Given the description of an element on the screen output the (x, y) to click on. 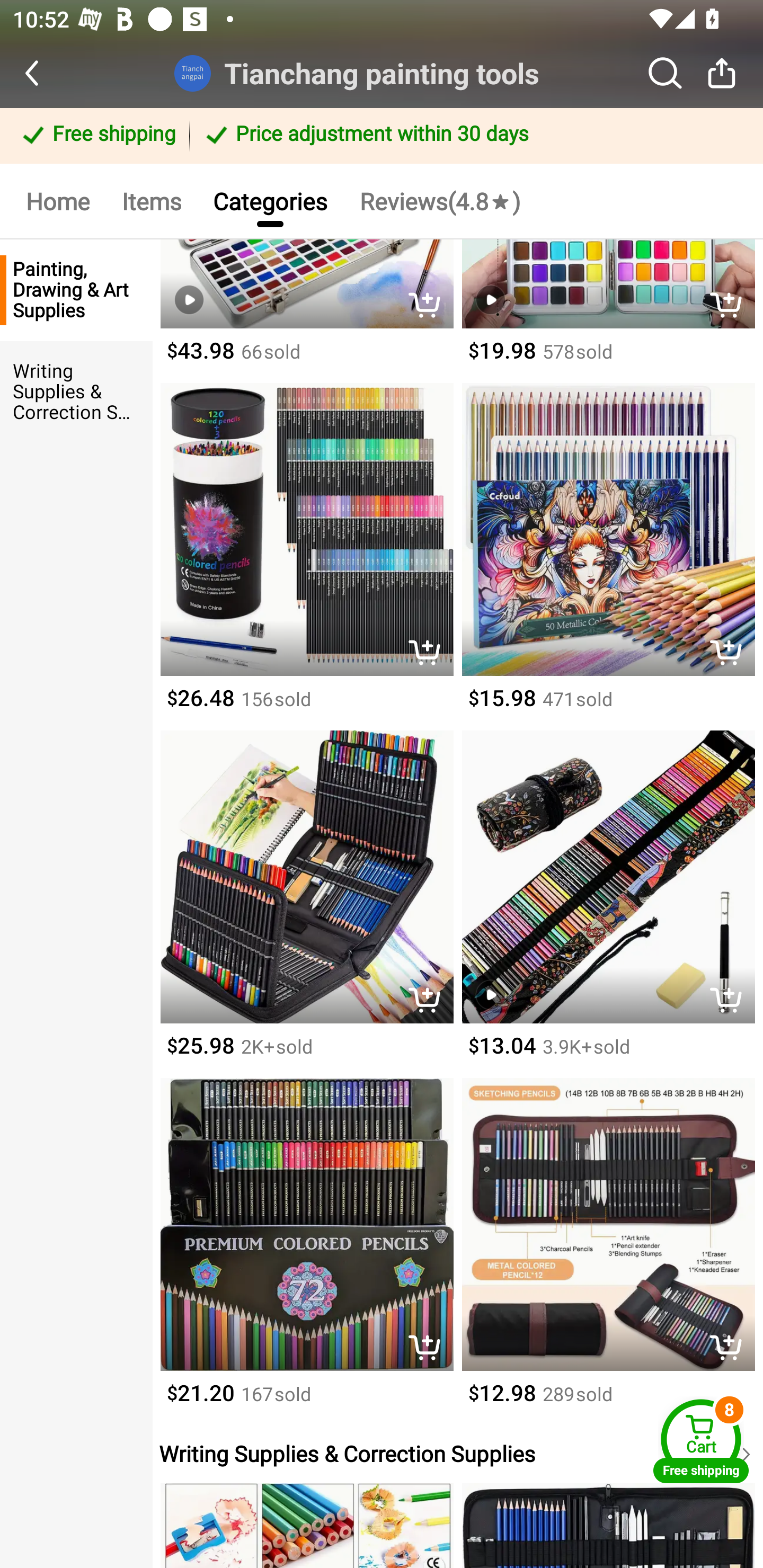
back (47, 72)
share (721, 72)
Free shipping (97, 135)
Price adjustment within 30 days (472, 135)
Home (57, 200)
Items (150, 200)
Categories (269, 200)
Reviews(4.8 ) (439, 200)
Painting, Drawing & Art Supplies (76, 290)
delete $43.98 66￼sold (306, 310)
delete $19.98 578￼sold (608, 310)
delete (429, 306)
delete (731, 306)
Writing Supplies & Correction Supplies (76, 391)
delete $26.48 156￼sold (306, 556)
delete $15.98 471￼sold (608, 556)
delete (429, 654)
delete (731, 654)
delete $25.98 2K+￼sold (306, 904)
delete $13.04 3.9K+￼sold (608, 904)
delete (429, 1001)
delete (731, 1001)
delete $21.20 167￼sold (306, 1251)
delete $12.98 289￼sold (608, 1251)
delete (429, 1349)
delete (731, 1349)
Cart Free shipping Cart (701, 1440)
